Given the description of an element on the screen output the (x, y) to click on. 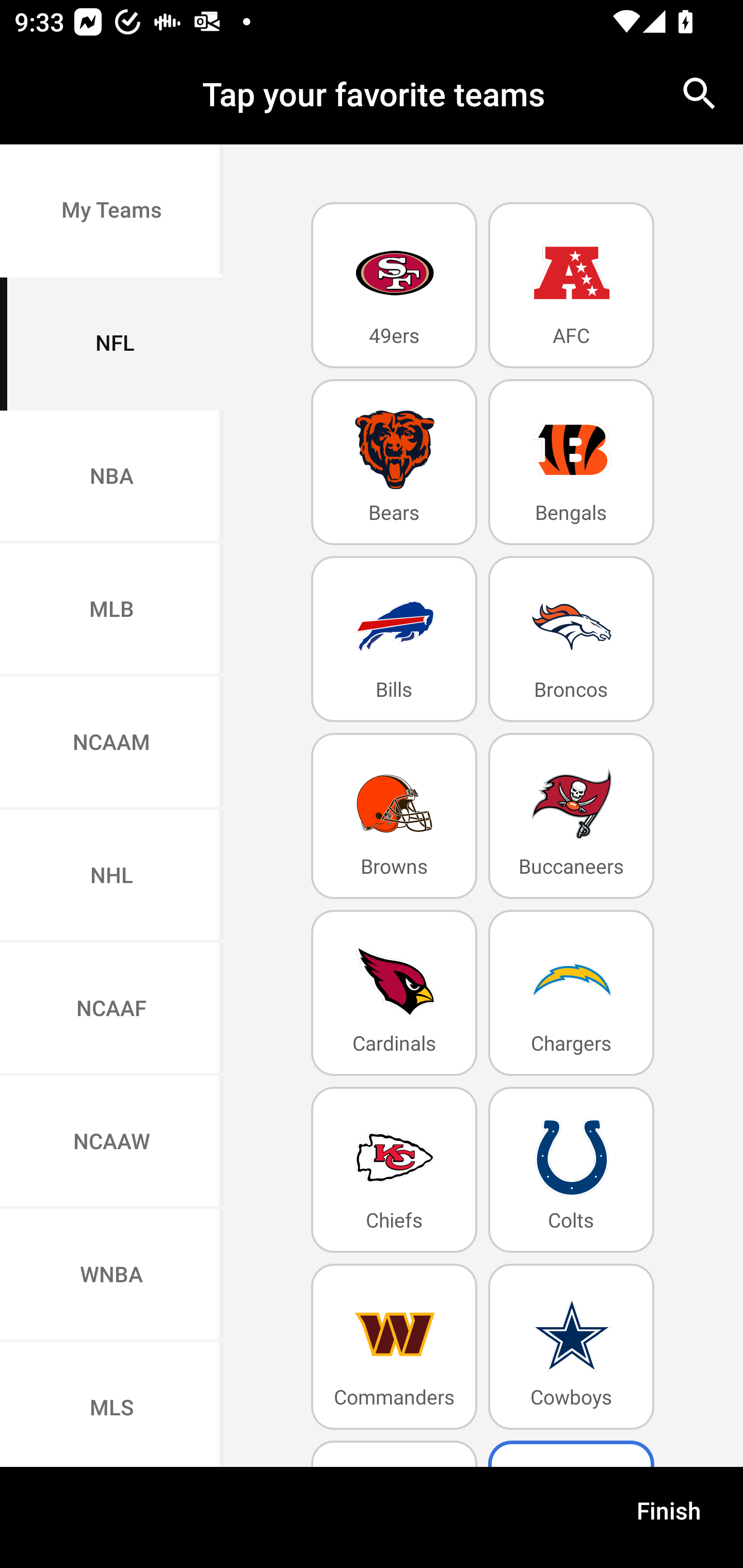
search (699, 93)
My Teams (111, 210)
49ers (394, 285)
AFC (571, 285)
NFL (111, 343)
Bears (394, 462)
Bengals (571, 462)
NBA (111, 477)
MLB (111, 610)
Bills (394, 639)
Broncos (571, 639)
NCAAM (111, 743)
Browns (394, 815)
Buccaneers (571, 815)
NHL (111, 876)
Cardinals (394, 992)
Chargers (571, 992)
NCAAF (111, 1009)
NCAAW (111, 1141)
Chiefs (394, 1169)
Colts (571, 1169)
WNBA (111, 1275)
Commanders (394, 1346)
Cowboys (571, 1346)
MLS (111, 1404)
Finish Finish and Close (669, 1517)
